Given the description of an element on the screen output the (x, y) to click on. 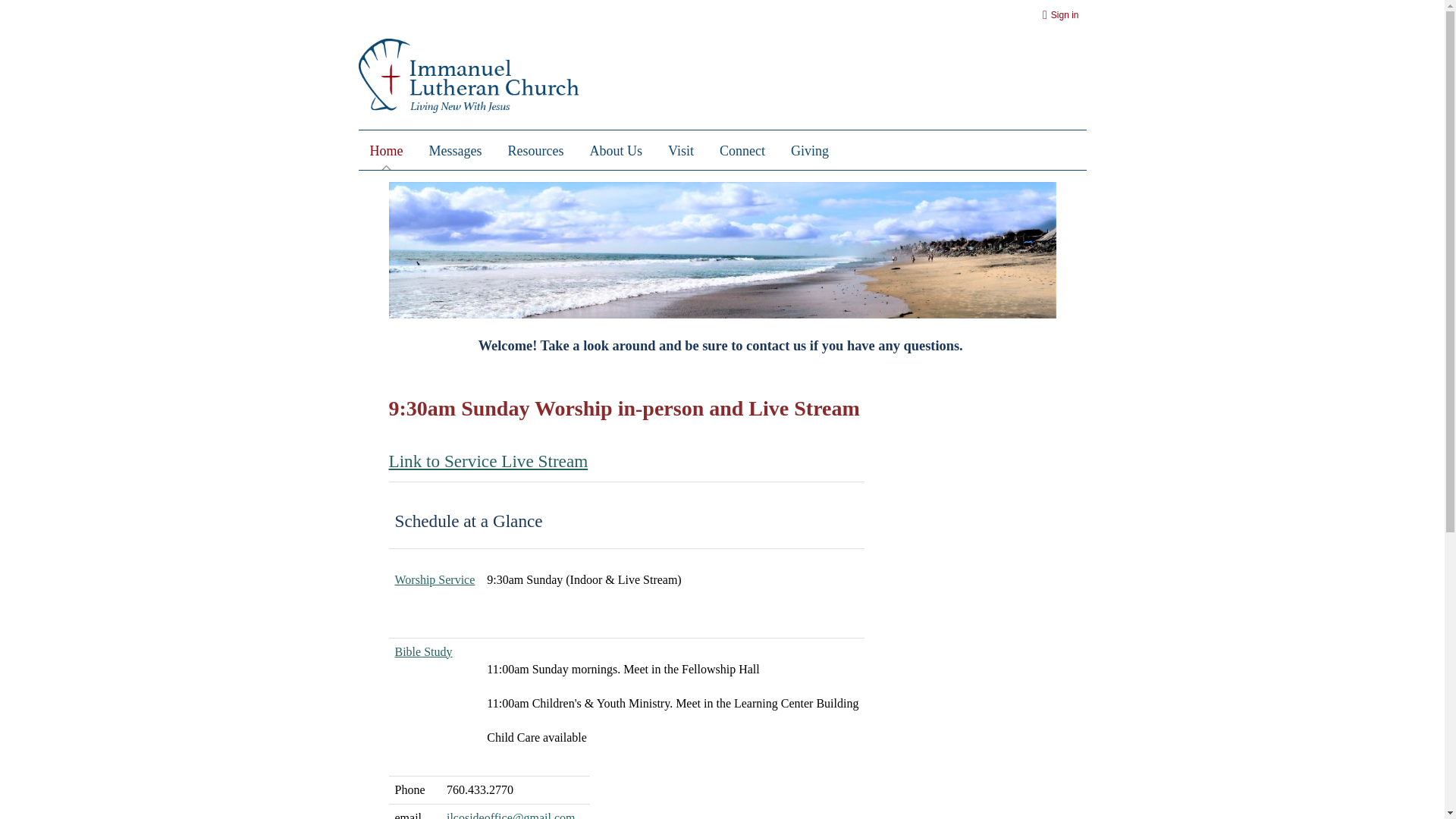
Worship Service Element type: text (434, 579)
Bible Study Element type: text (422, 650)
Messages Element type: text (454, 150)
Link to Service Live Stream Element type: text (487, 460)
Sign in Element type: text (1063, 14)
